Given the description of an element on the screen output the (x, y) to click on. 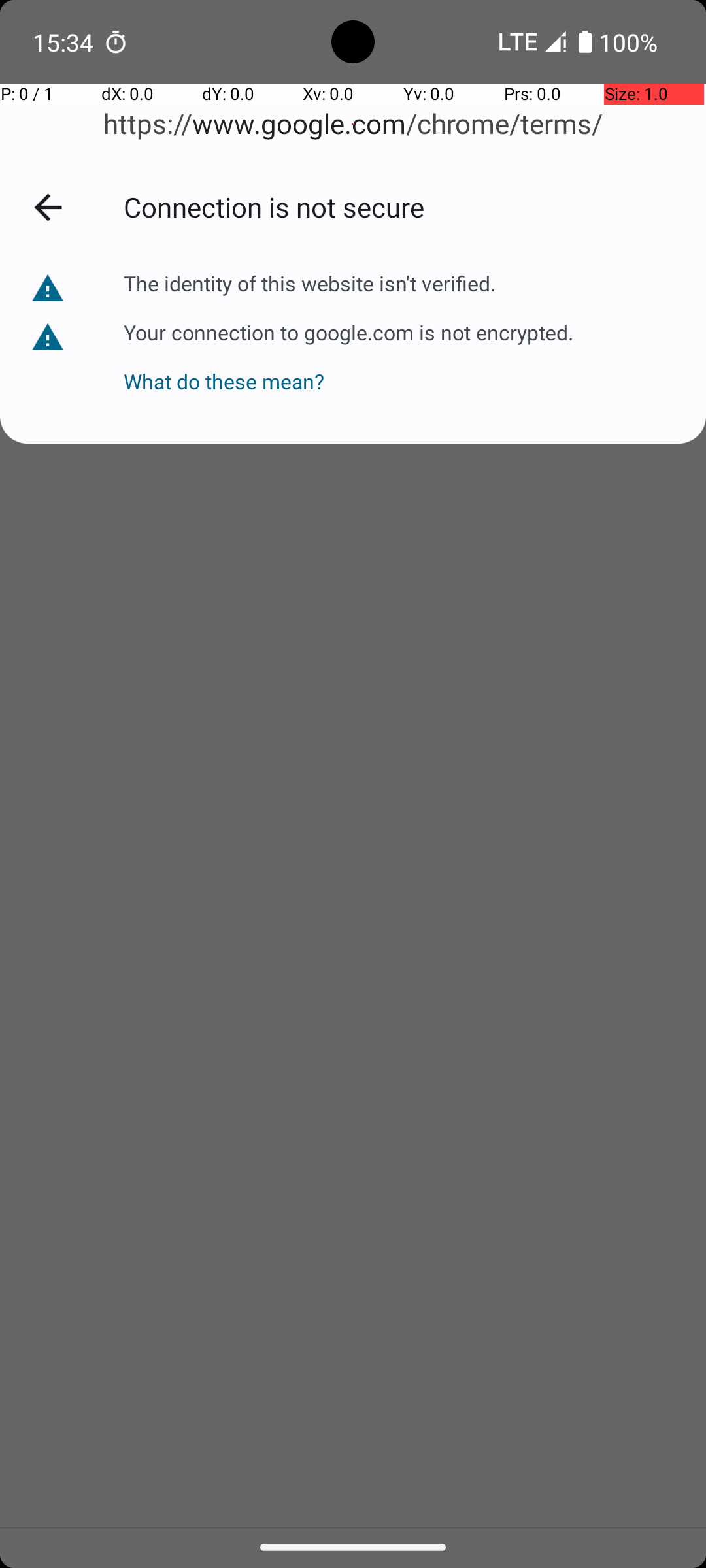
The identity of this website isn't verified. Element type: android.widget.TextView (309, 283)
Your connection to google.com is not encrypted. Element type: android.widget.TextView (348, 332)
What do these mean? Element type: android.widget.TextView (348, 370)
https://www.google.com/chrome/terms/ Element type: android.widget.TextView (352, 124)
